Given the description of an element on the screen output the (x, y) to click on. 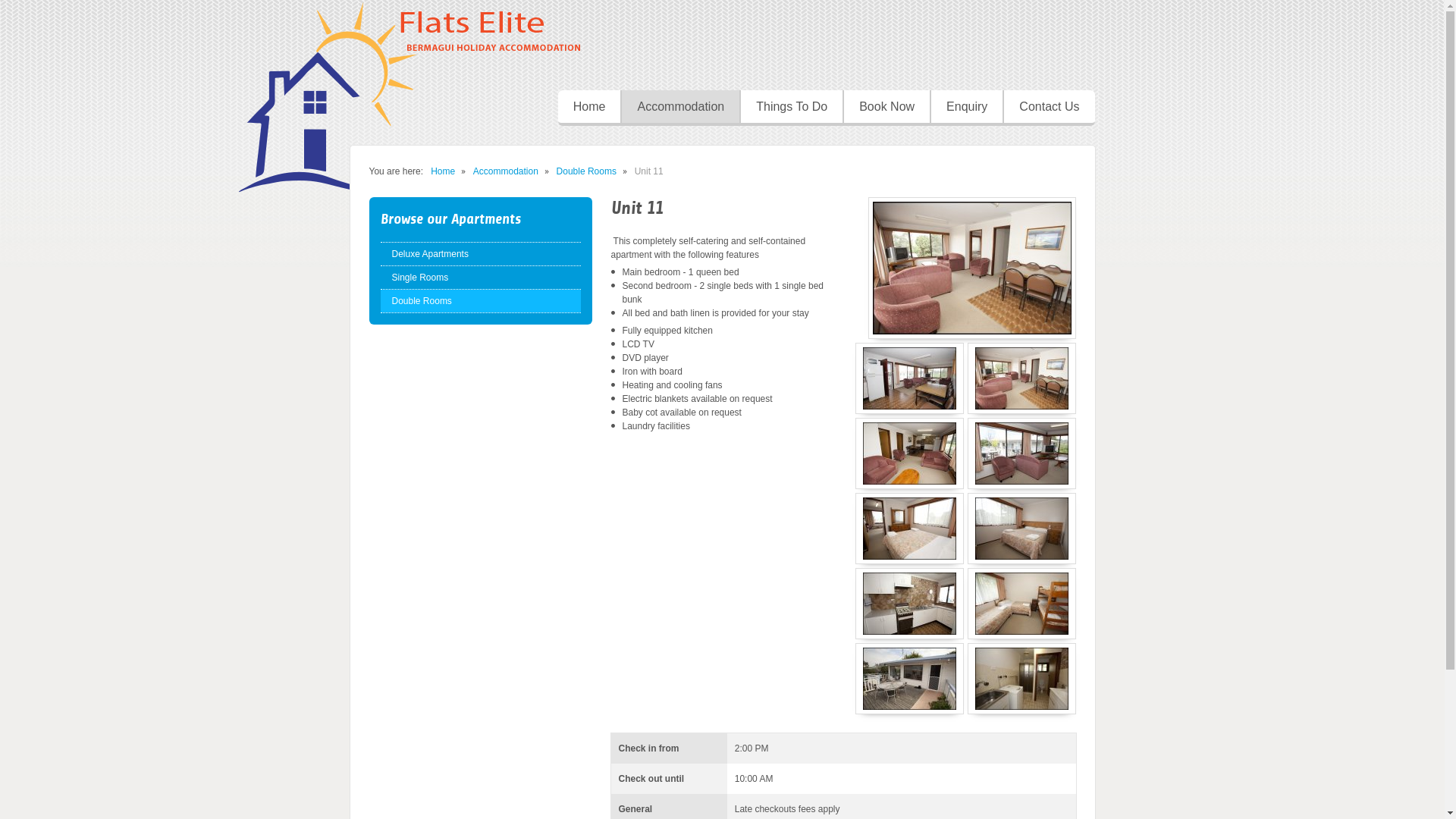
unit-11.6 Element type: hover (1021, 603)
unit-11 Element type: hover (971, 267)
unit-11.1 Element type: hover (909, 378)
unit-11.4 Element type: hover (1021, 528)
Contact Us Element type: text (1048, 107)
Deluxe Apartments Element type: text (480, 253)
Things To Do Element type: text (790, 107)
Accommodation Element type: text (679, 107)
unit-11.3 Element type: hover (909, 453)
Enquiry Element type: text (965, 107)
Home Element type: text (442, 171)
unit-11.5 Element type: hover (909, 528)
unit-11.2 Element type: hover (1021, 453)
Home Element type: text (589, 107)
unit-11.9 Element type: hover (909, 678)
Double Rooms Element type: text (586, 171)
unit-11 Element type: hover (1021, 378)
Double Rooms Element type: text (480, 300)
unit-11.7 Element type: hover (909, 603)
Single Rooms Element type: text (480, 276)
unit-11.8 Element type: hover (1021, 678)
Accommodation Element type: text (505, 171)
Book Now Element type: text (885, 107)
